Given the description of an element on the screen output the (x, y) to click on. 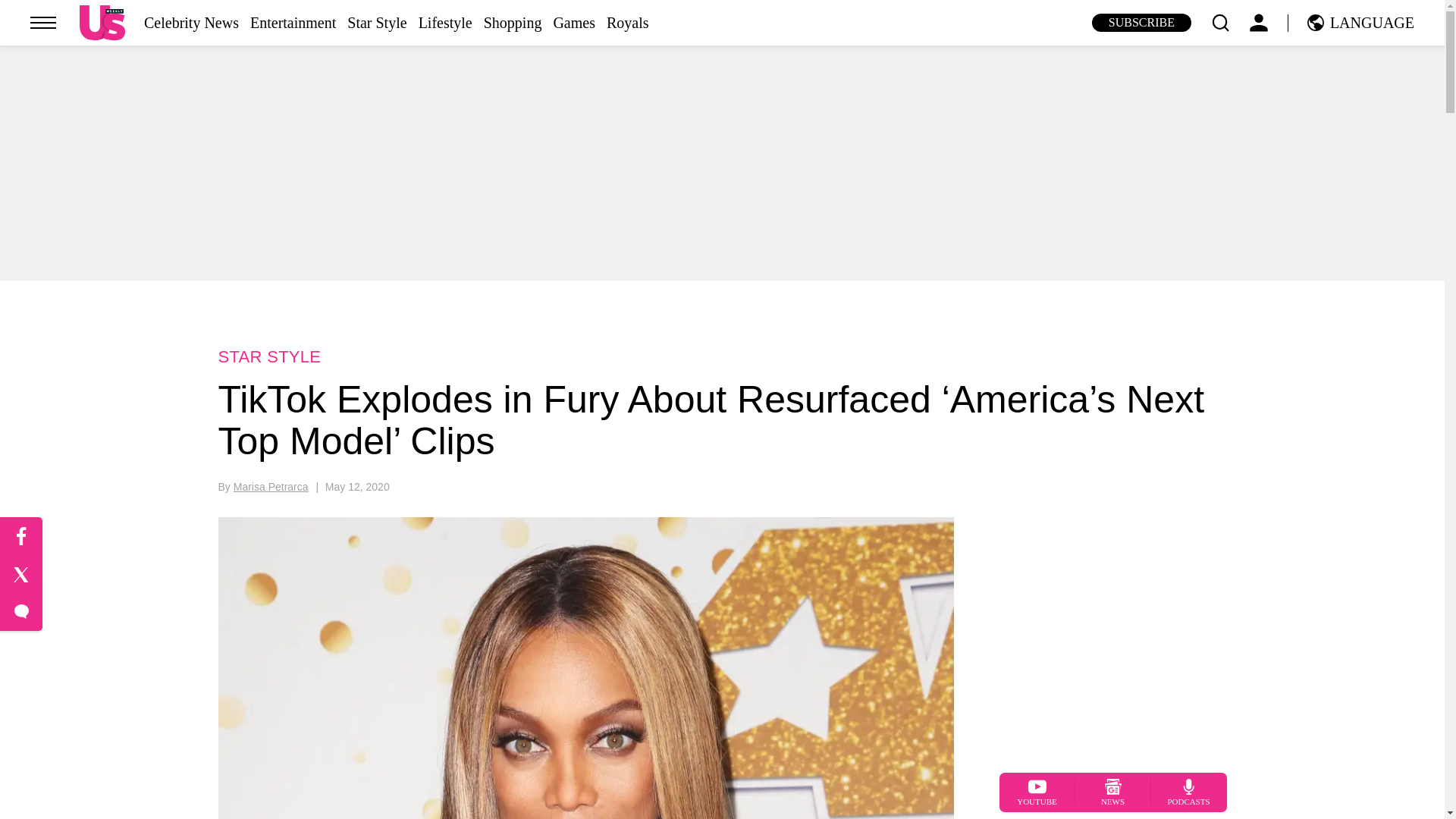
Us Weekly Magazine (102, 22)
Lifestyle (445, 22)
Star Style (376, 22)
Posts by Marisa Petrarca (270, 486)
Click to share on Facebook (21, 536)
Games (574, 22)
Entertainment (293, 22)
Shopping (512, 22)
Click to share on Twitter (21, 574)
Celebrity News (191, 22)
